Given the description of an element on the screen output the (x, y) to click on. 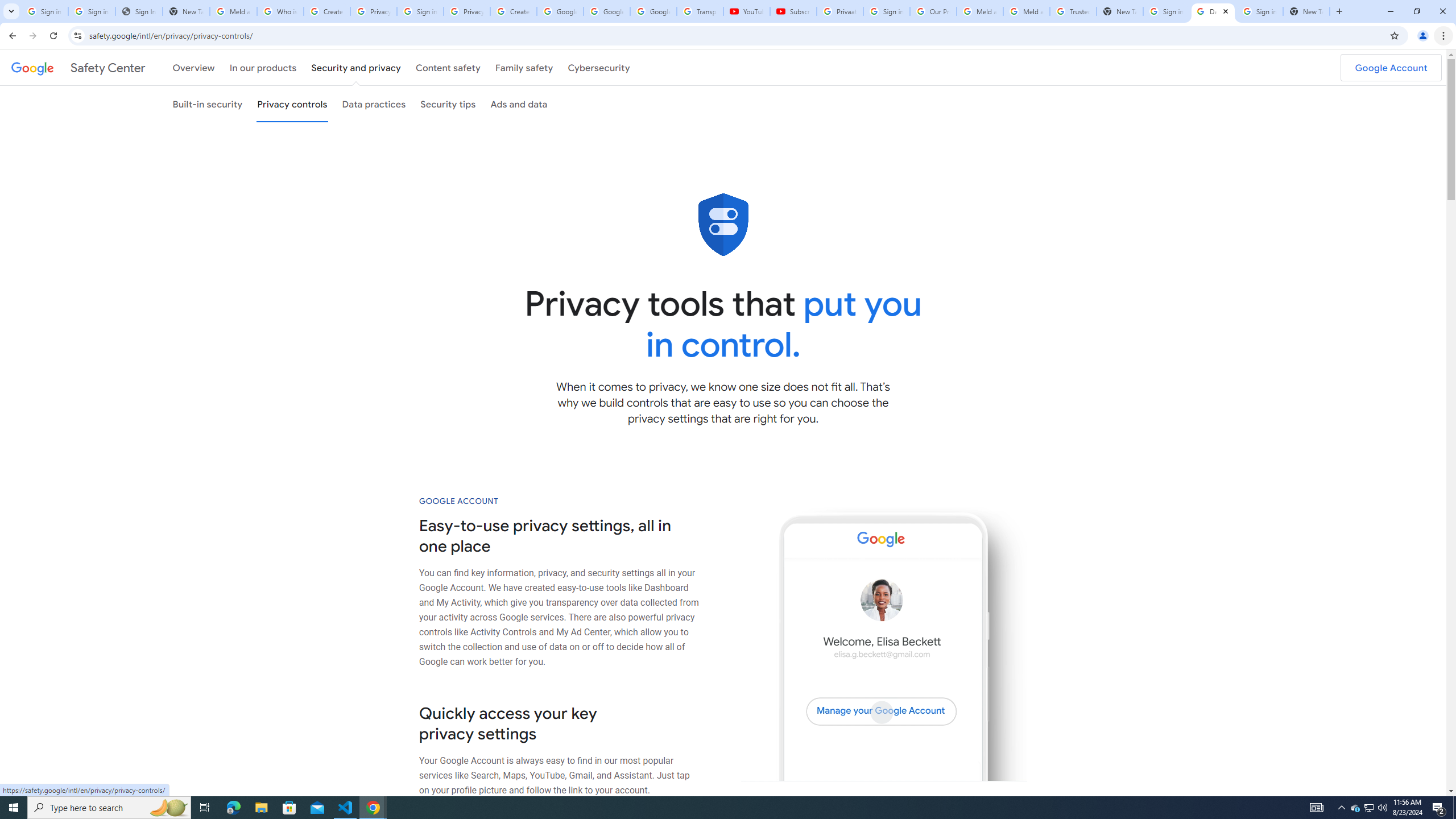
YouTube (745, 11)
Data practices (373, 103)
Security and privacy (356, 67)
Privacy controls (291, 103)
Subscriptions - YouTube (792, 11)
Cybersecurity (598, 67)
Sign in - Google Accounts (886, 11)
Sign in - Google Accounts (1166, 11)
